Given the description of an element on the screen output the (x, y) to click on. 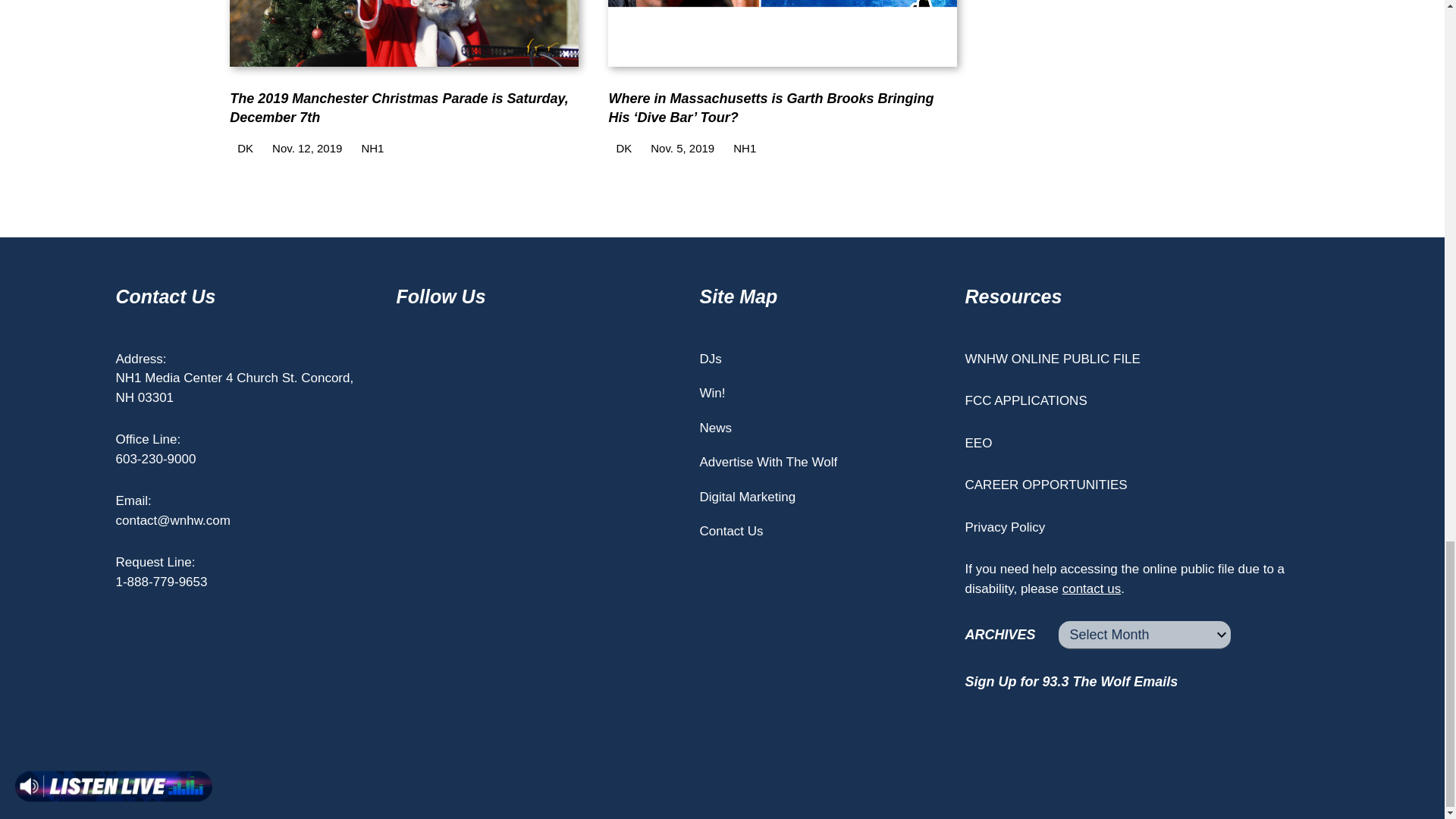
DK (241, 147)
NH1 (368, 147)
